Given the description of an element on the screen output the (x, y) to click on. 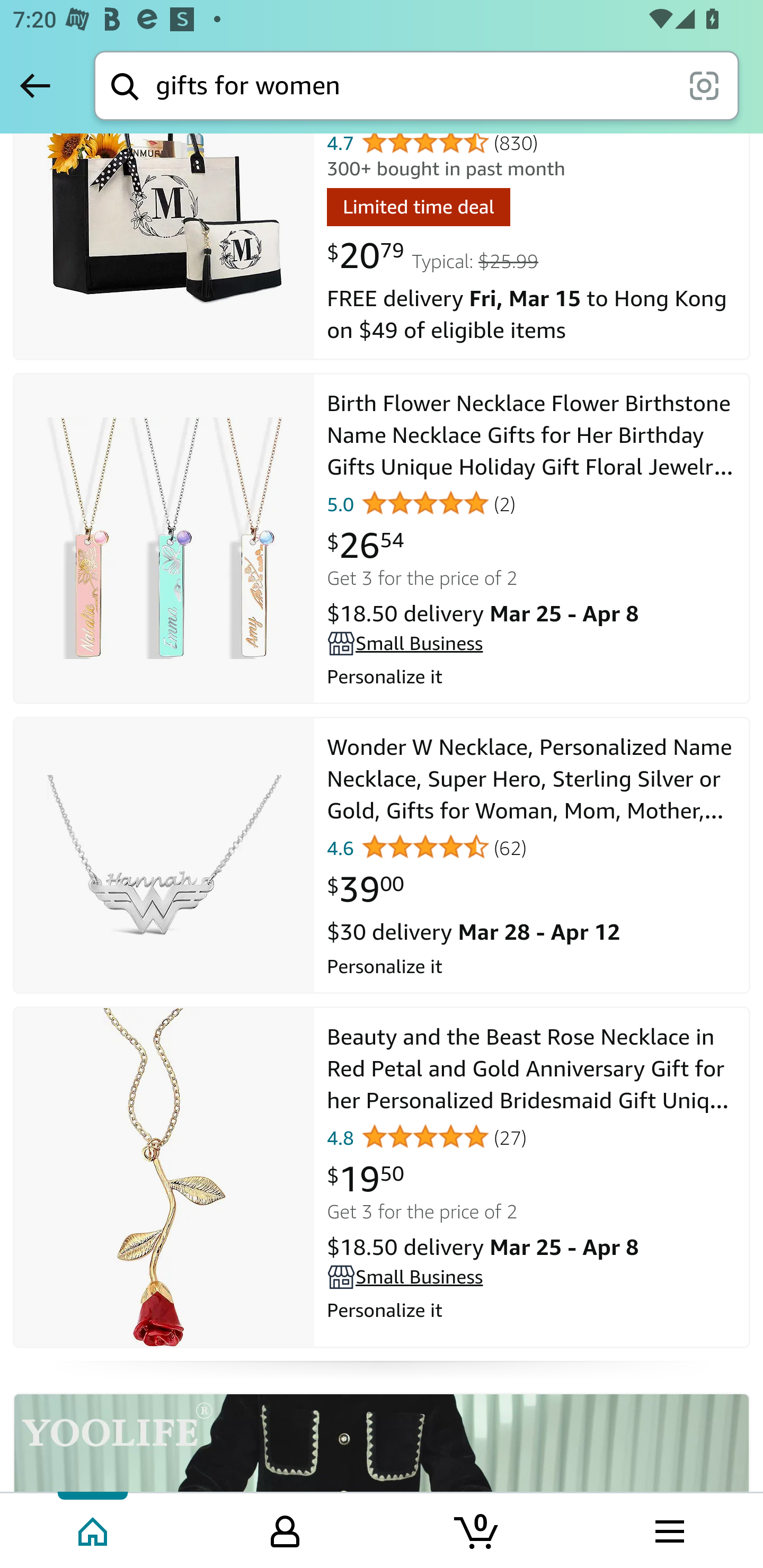
Back (35, 85)
Search Search gifts for women scan it (416, 85)
scan it (704, 85)
Limited time deal (417, 210)
Personalize it (532, 674)
Personalize it (532, 963)
Personalize it (532, 1308)
Home Tab 1 of 4 (94, 1529)
Your Amazon.com Tab 2 of 4 (285, 1529)
Cart 0 item Tab 3 of 4 0 (477, 1529)
Browse menu Tab 4 of 4 (668, 1529)
